Given the description of an element on the screen output the (x, y) to click on. 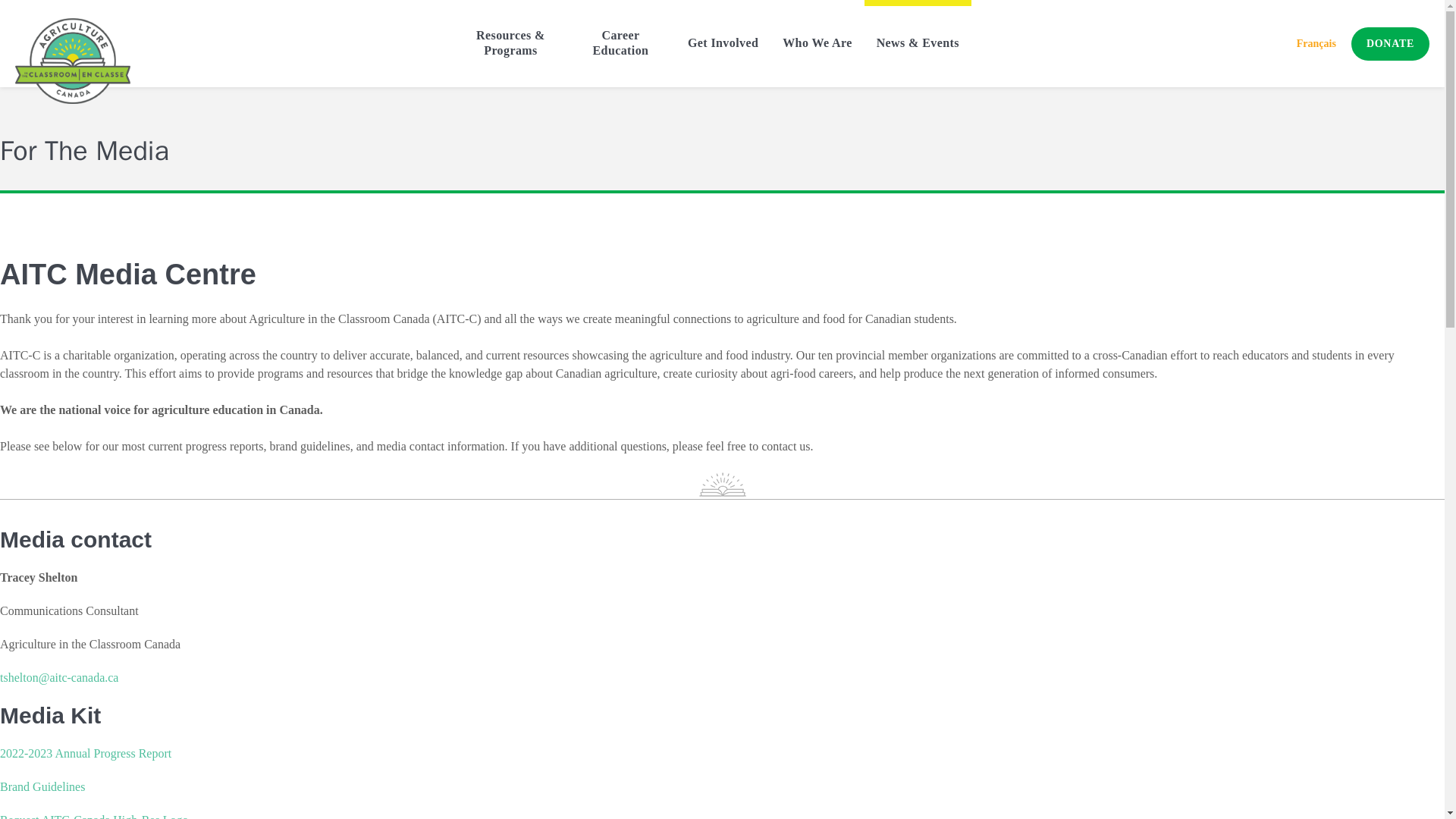
DONATE (1390, 43)
2022-2023 Annual Progress Report (85, 753)
Brand Guidelines (42, 786)
Request AITC-Canada High-Res Logo (93, 816)
